Given the description of an element on the screen output the (x, y) to click on. 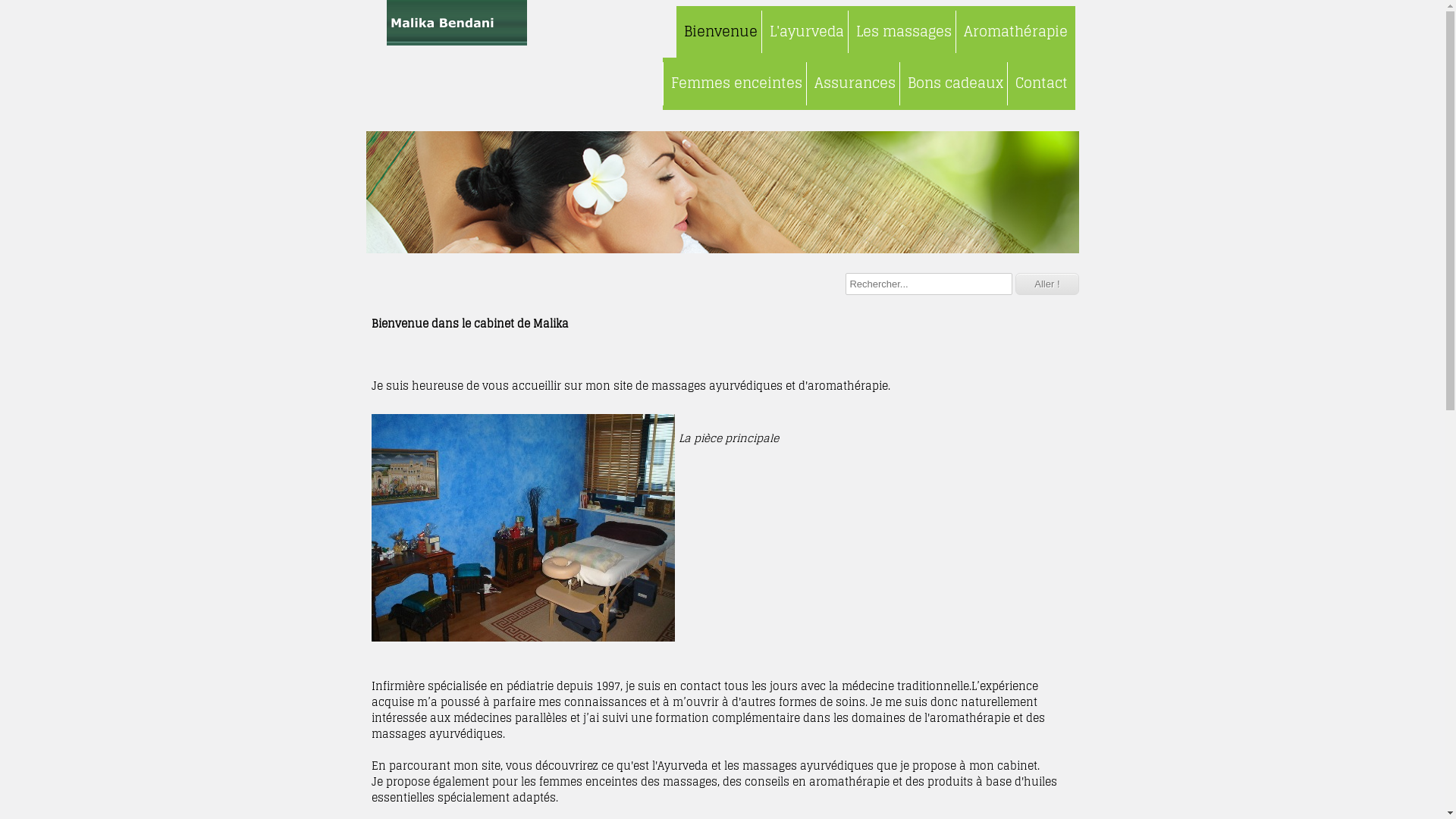
Assurances Element type: text (853, 83)
Les massages Element type: text (903, 31)
Bienvenue Element type: text (720, 31)
Bons cadeaux Element type: text (954, 83)
L'ayurveda Element type: text (806, 31)
Femmes enceintes Element type: text (735, 83)
Contact Element type: text (1041, 83)
